Given the description of an element on the screen output the (x, y) to click on. 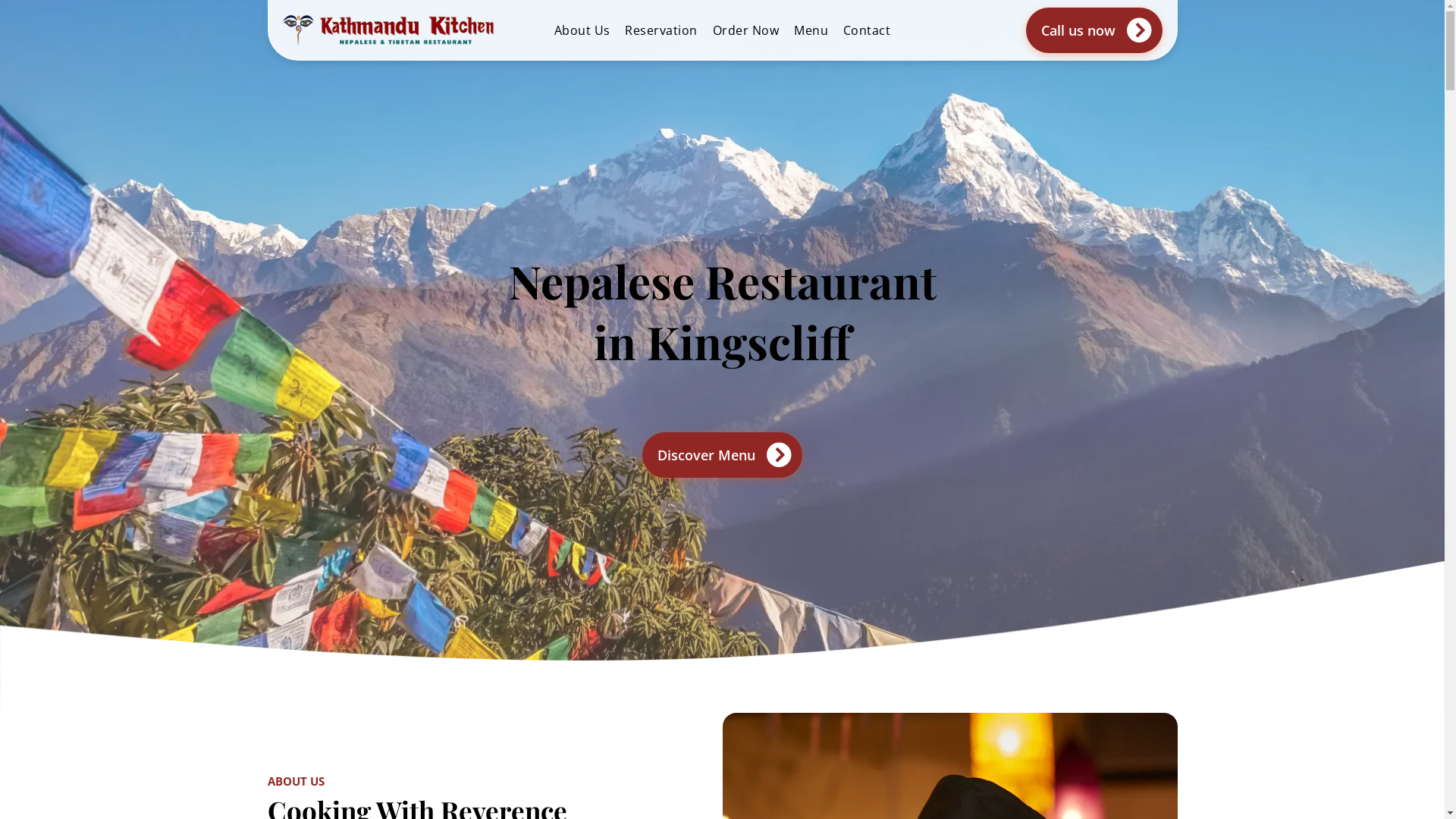
Menu Element type: text (810, 30)
Discover Menu Element type: text (722, 454)
Order Now Element type: text (745, 30)
Contact Element type: text (866, 30)
Nepalese Restaurant in Tweed | Kathmandu Kitchen Element type: hover (407, 30)
Call us now Element type: text (1094, 30)
About Us Element type: text (582, 30)
Nepalese Restaurant in Tweed | Kathmandu Kitchen Element type: hover (297, 30)
Reservation Element type: text (660, 30)
